Given the description of an element on the screen output the (x, y) to click on. 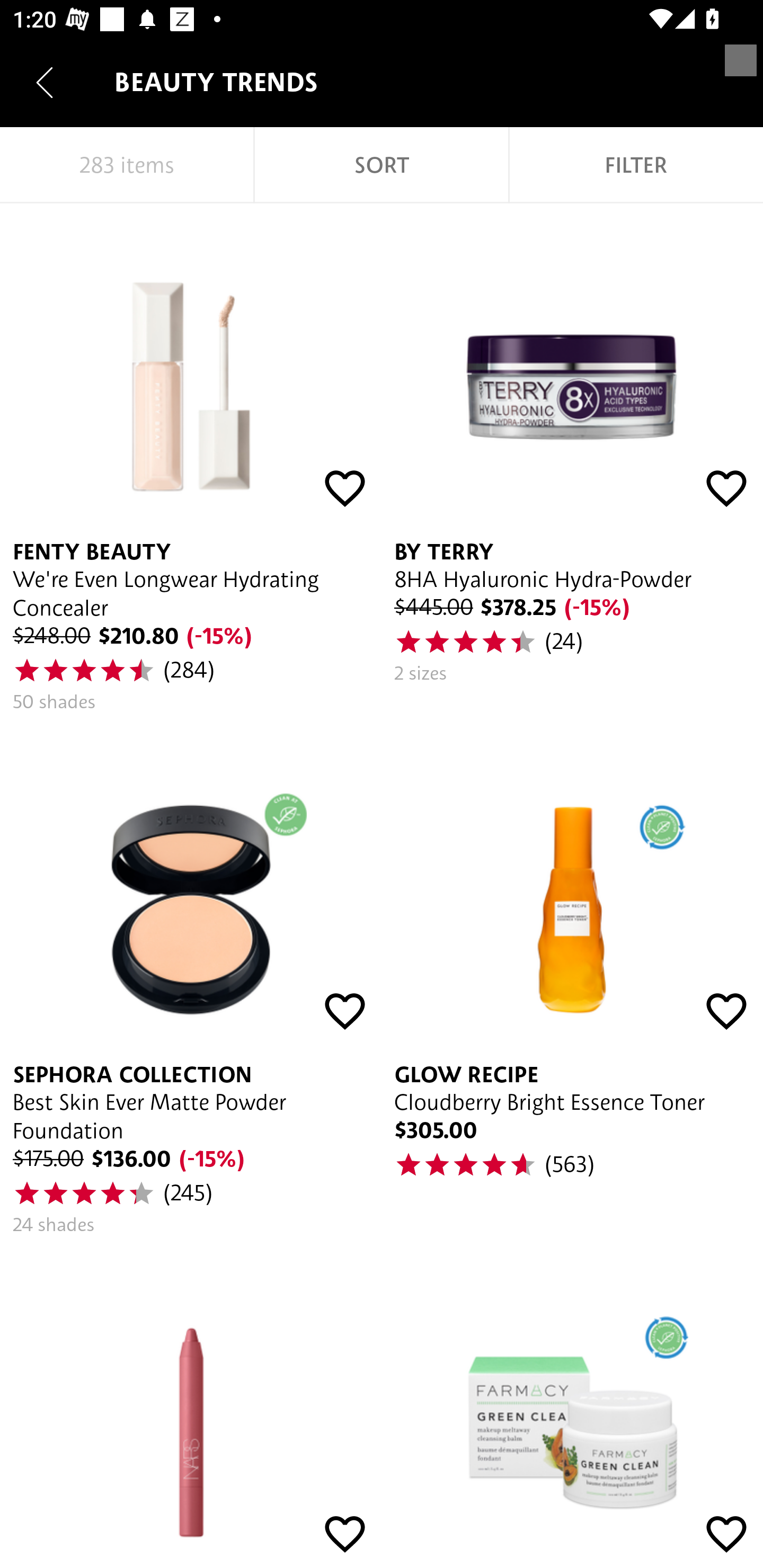
Navigate up (44, 82)
SORT (381, 165)
FILTER (636, 165)
